Given the description of an element on the screen output the (x, y) to click on. 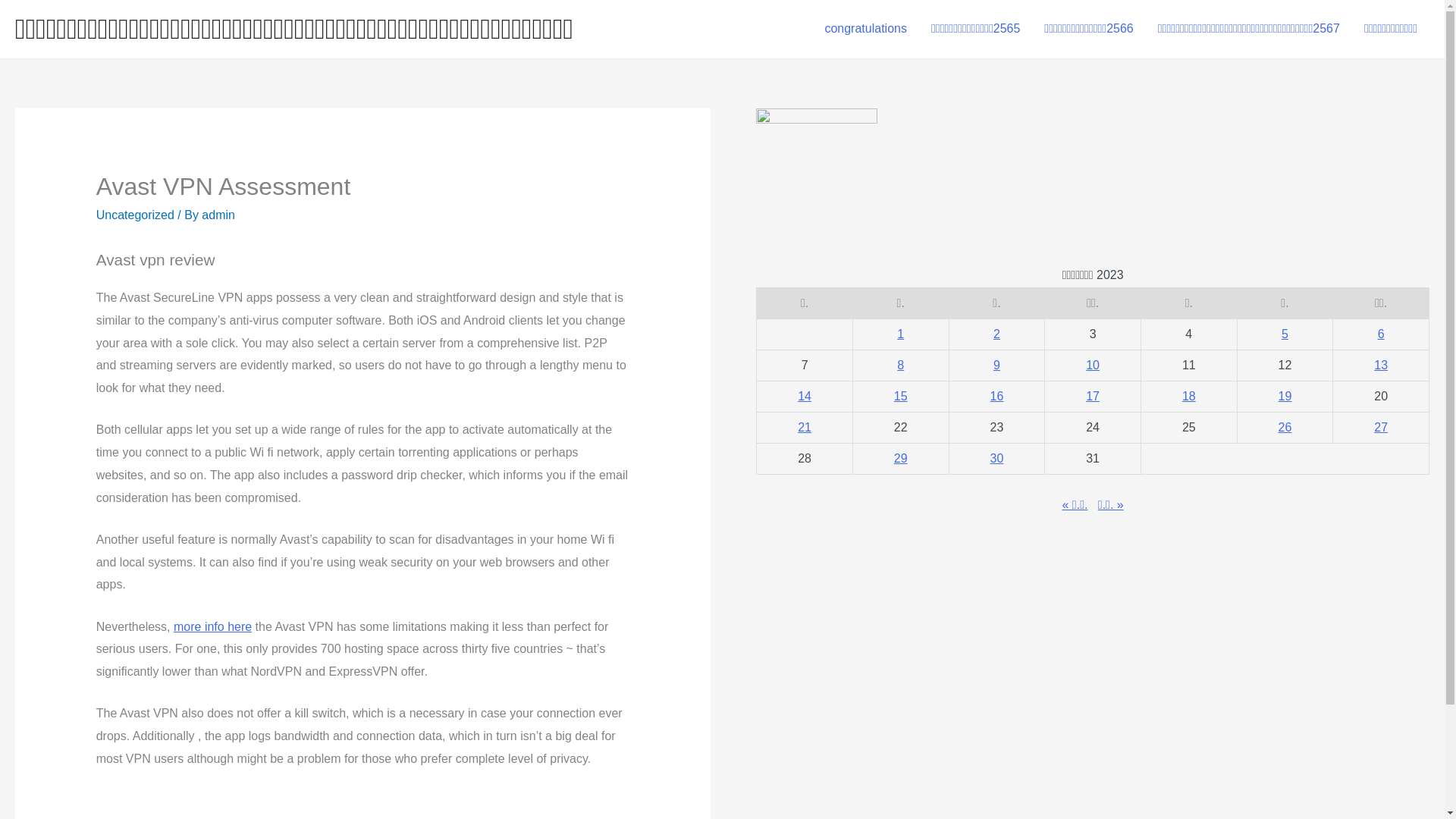
10 (1092, 364)
Uncategorized (135, 214)
27 (1380, 427)
30 (997, 458)
View all posts by admin (218, 214)
18 (1188, 395)
17 (1092, 395)
15 (900, 395)
13 (1380, 364)
29 (900, 458)
congratulations (865, 28)
more info here (212, 626)
14 (803, 395)
19 (1285, 395)
26 (1285, 427)
